Given the description of an element on the screen output the (x, y) to click on. 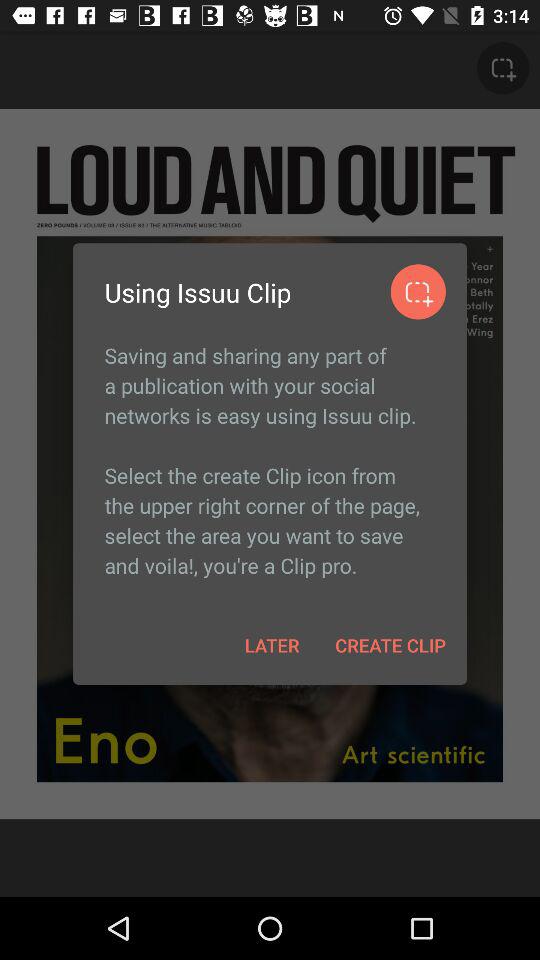
turn on the saving and sharing item (269, 460)
